Given the description of an element on the screen output the (x, y) to click on. 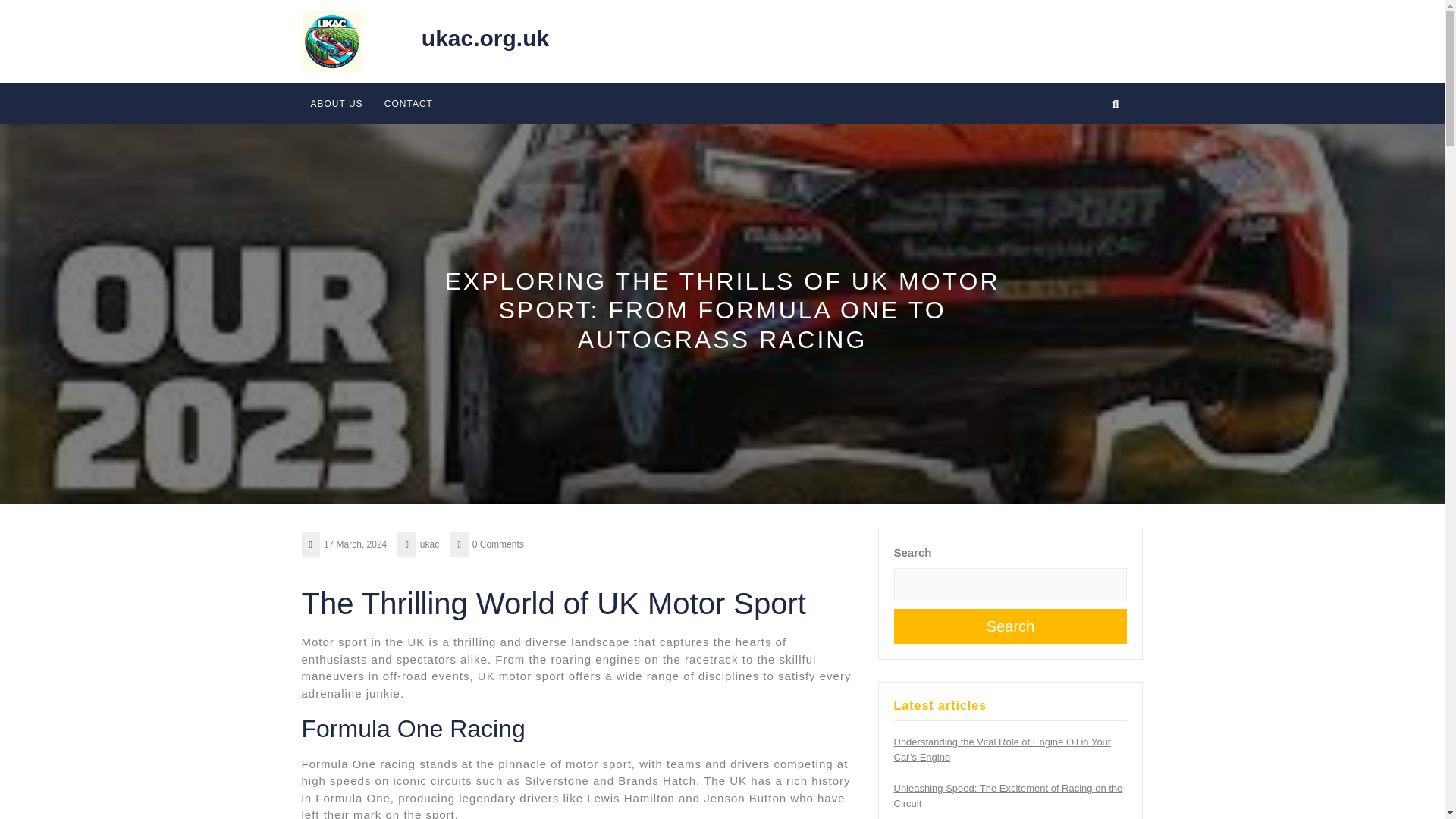
ukac.org.uk (485, 37)
ABOUT US (336, 103)
CONTACT (408, 103)
